Given the description of an element on the screen output the (x, y) to click on. 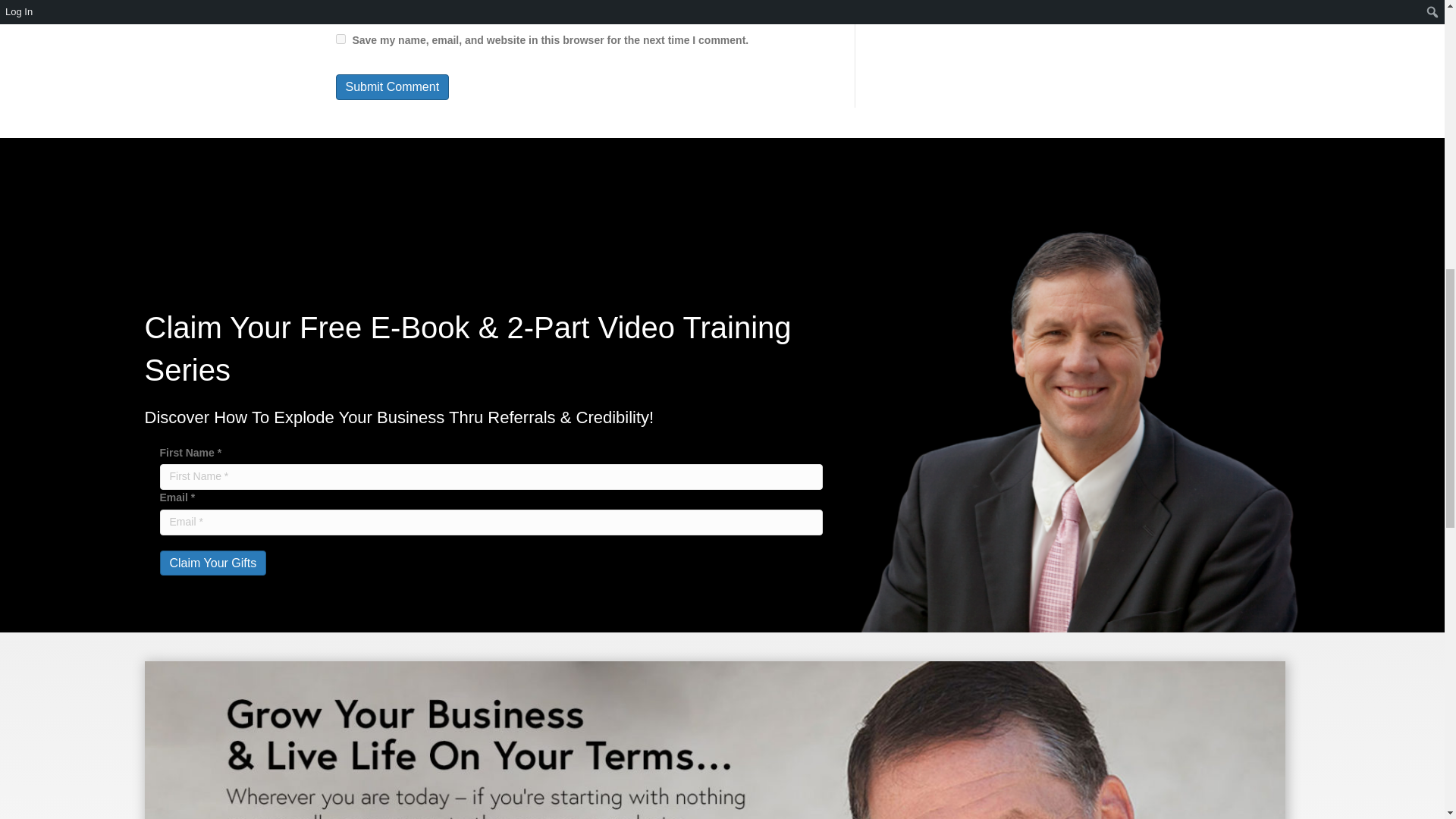
Submit Comment (391, 86)
yes (339, 39)
Claim Your Gifts (212, 562)
Submit Comment (391, 86)
